Given the description of an element on the screen output the (x, y) to click on. 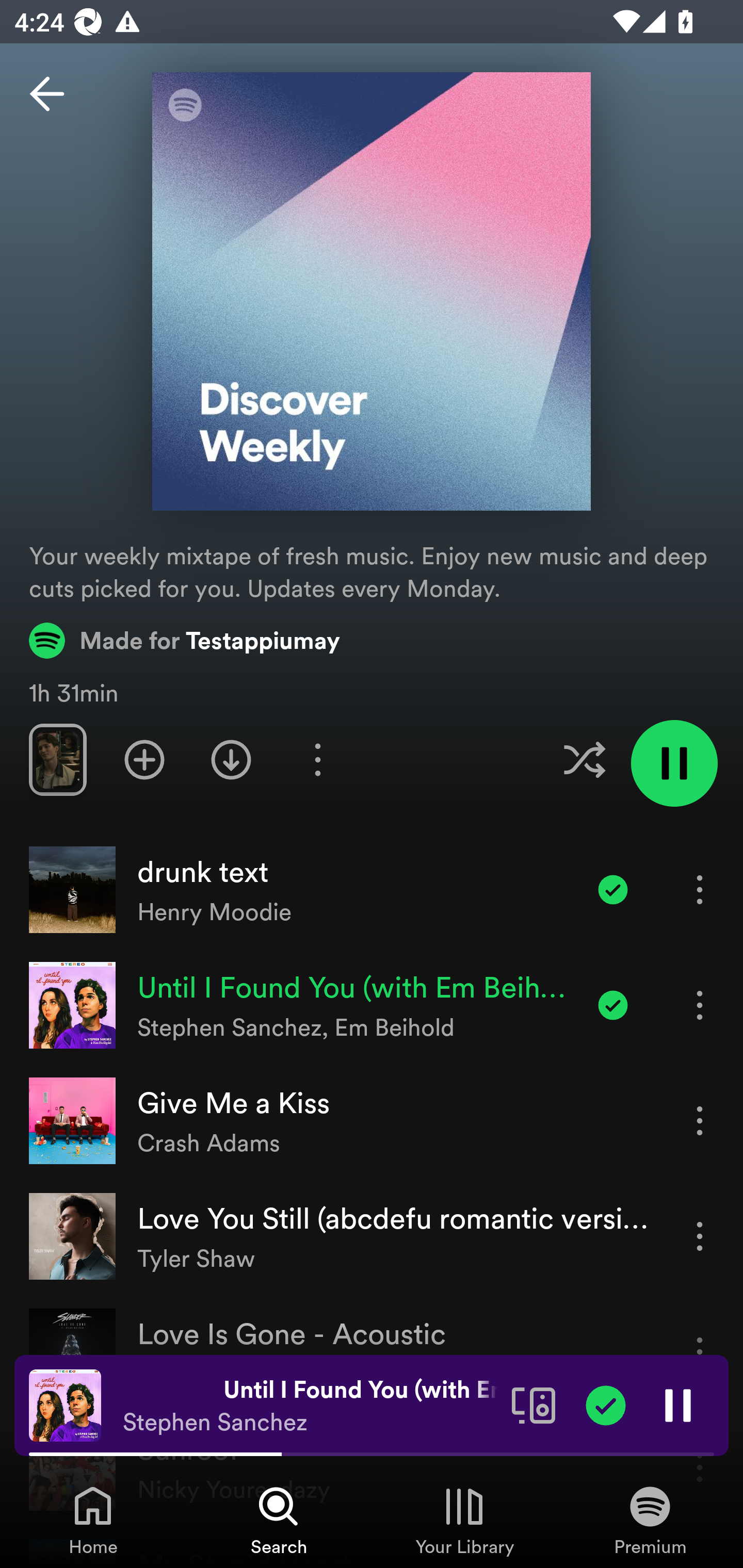
Back (46, 93)
Made for Testappiumay (184, 640)
Swipe through previews of tracks in this playlist. (57, 759)
Add playlist to Your Library (144, 759)
Download (230, 759)
More options for playlist Discover Weekly (317, 759)
Enable shuffle for this playlist (583, 759)
Pause playlist (674, 763)
Item added (612, 889)
More options for song drunk text (699, 889)
Item added (612, 1004)
More options for song Give Me a Kiss (699, 1120)
The cover art of the currently playing track (64, 1404)
Connect to a device. Opens the devices menu (533, 1404)
Item added (605, 1404)
Pause (677, 1404)
Home, Tab 1 of 4 Home Home (92, 1519)
Search, Tab 2 of 4 Search Search (278, 1519)
Your Library, Tab 3 of 4 Your Library Your Library (464, 1519)
Premium, Tab 4 of 4 Premium Premium (650, 1519)
